Given the description of an element on the screen output the (x, y) to click on. 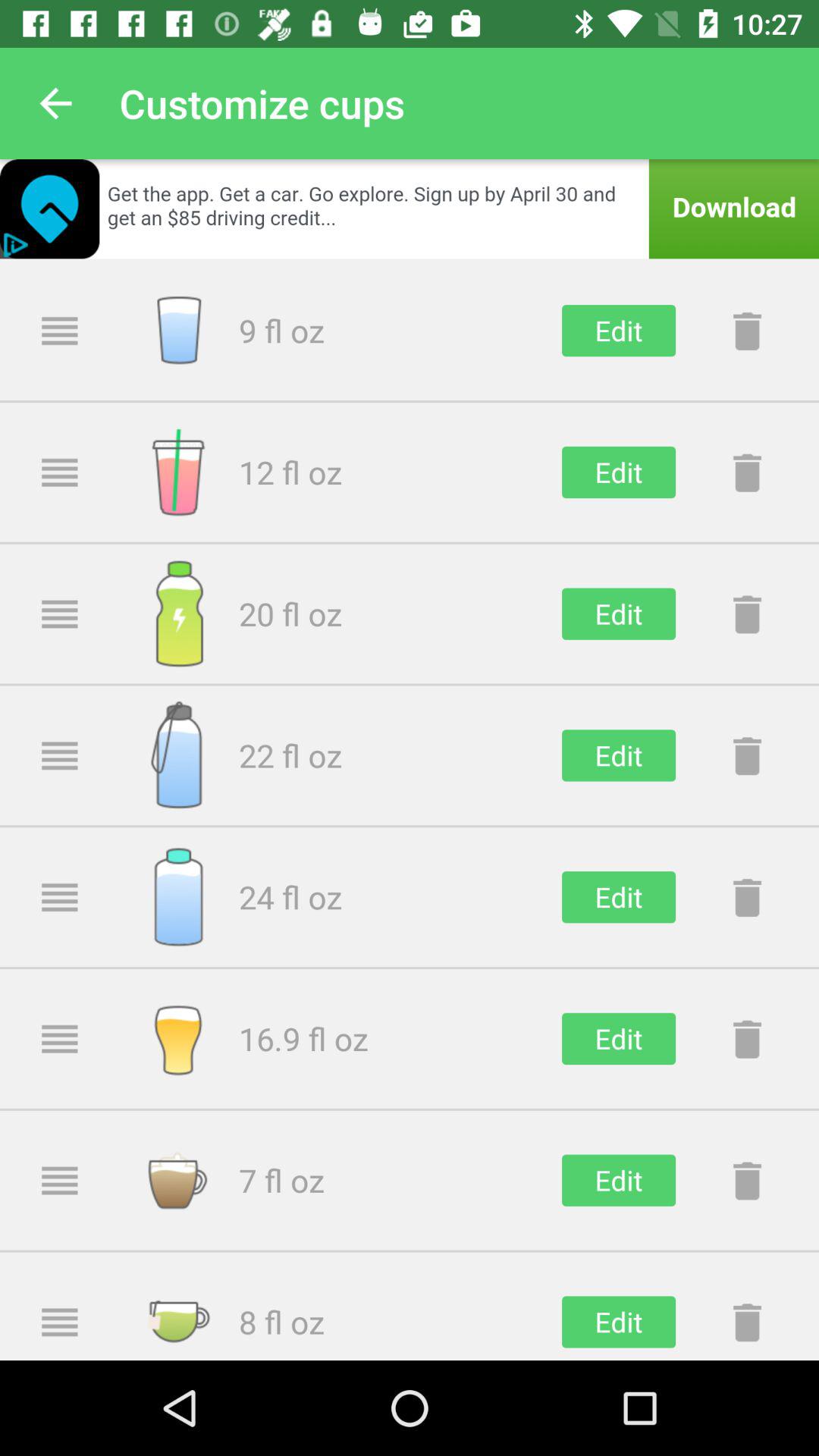
delete (747, 1180)
